Given the description of an element on the screen output the (x, y) to click on. 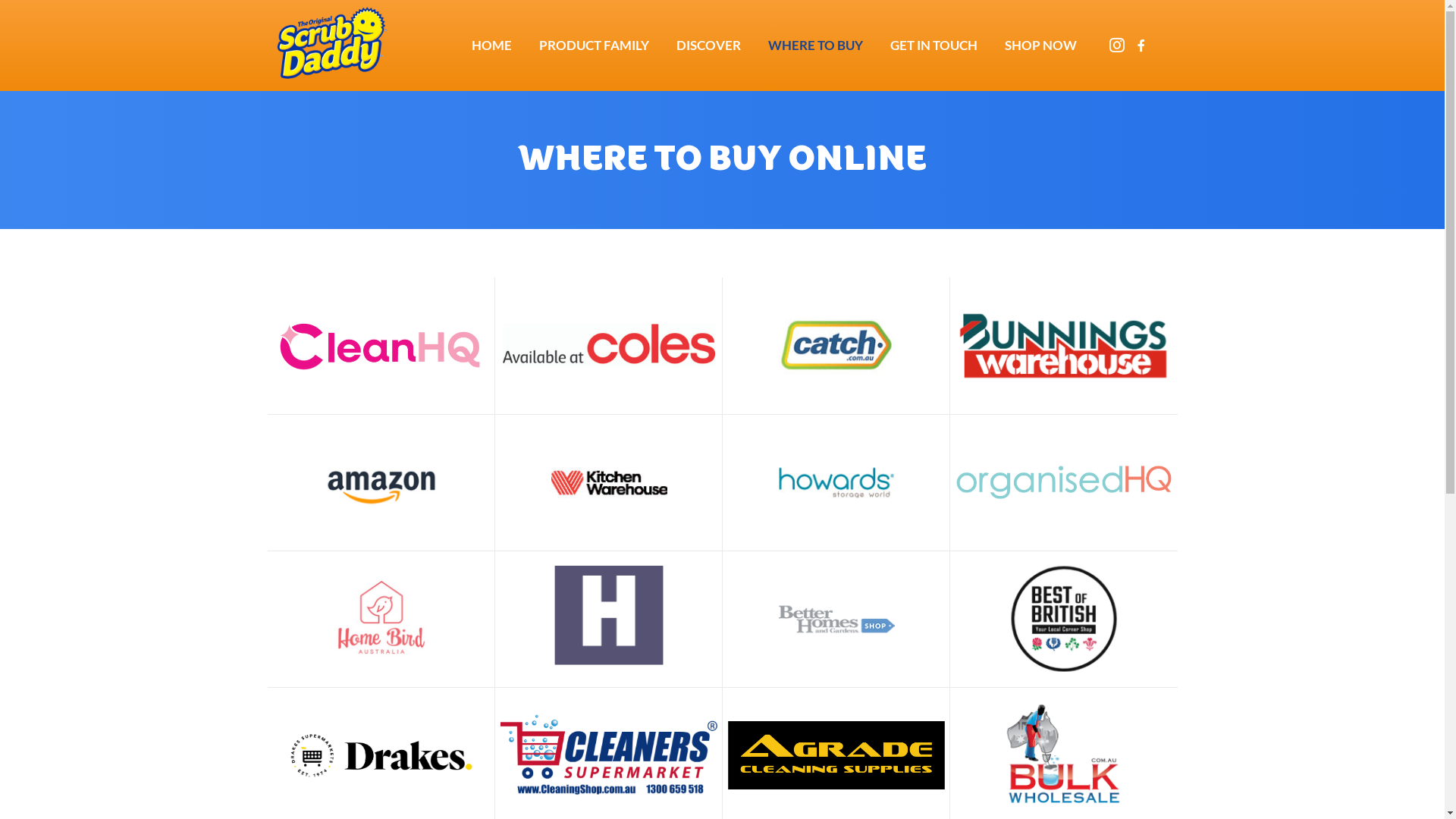
WHERE TO BUY Element type: text (815, 45)
DISCOVER Element type: text (708, 45)
HOME Element type: text (491, 45)
Title Element type: hover (1141, 45)
Title Element type: hover (1165, 45)
PRODUCT FAMILY Element type: text (593, 45)
GET IN TOUCH Element type: text (933, 45)
Instagram Element type: hover (1116, 45)
SHOP NOW Element type: text (1040, 45)
